Given the description of an element on the screen output the (x, y) to click on. 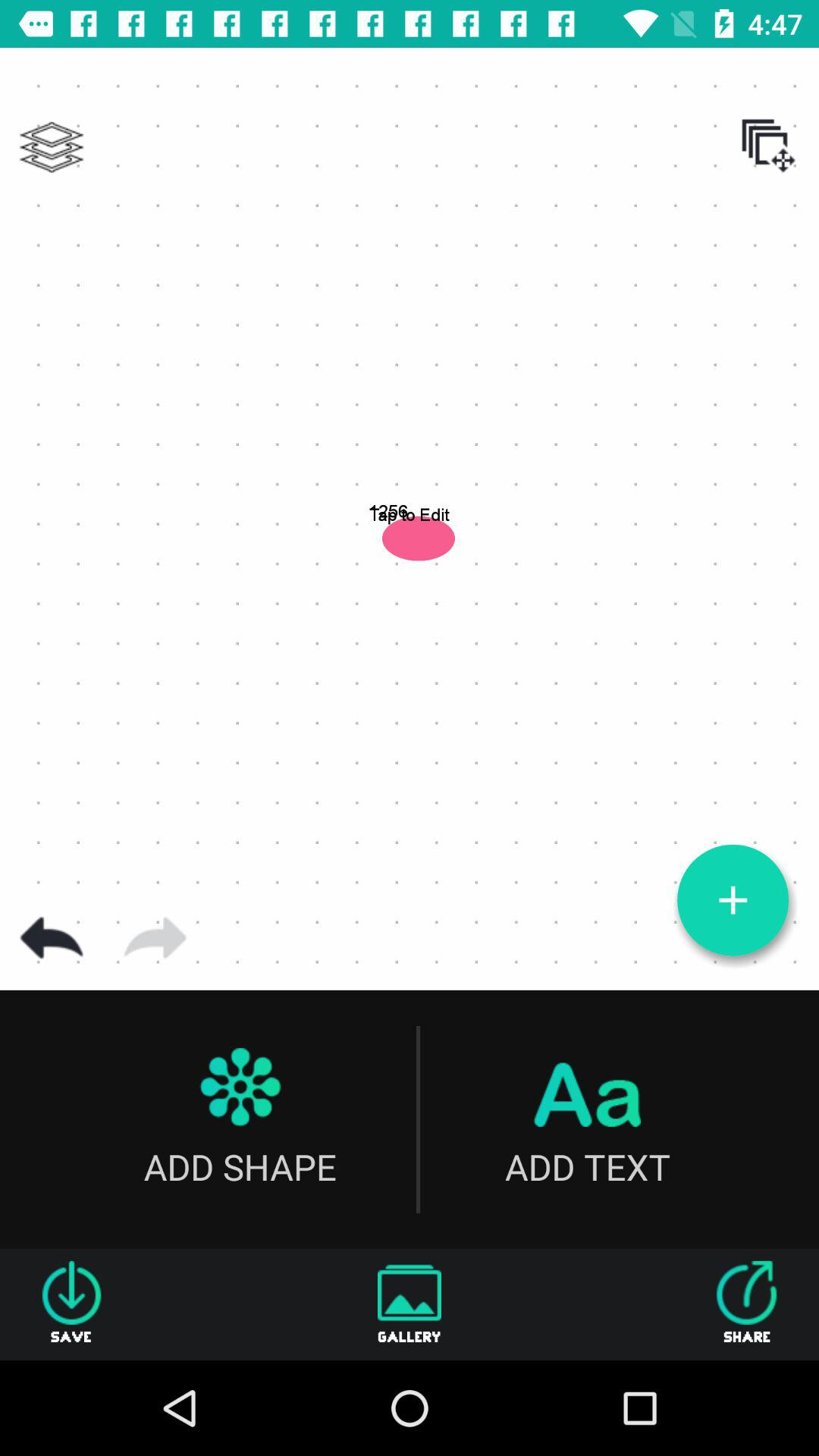
show layers (51, 147)
